Given the description of an element on the screen output the (x, y) to click on. 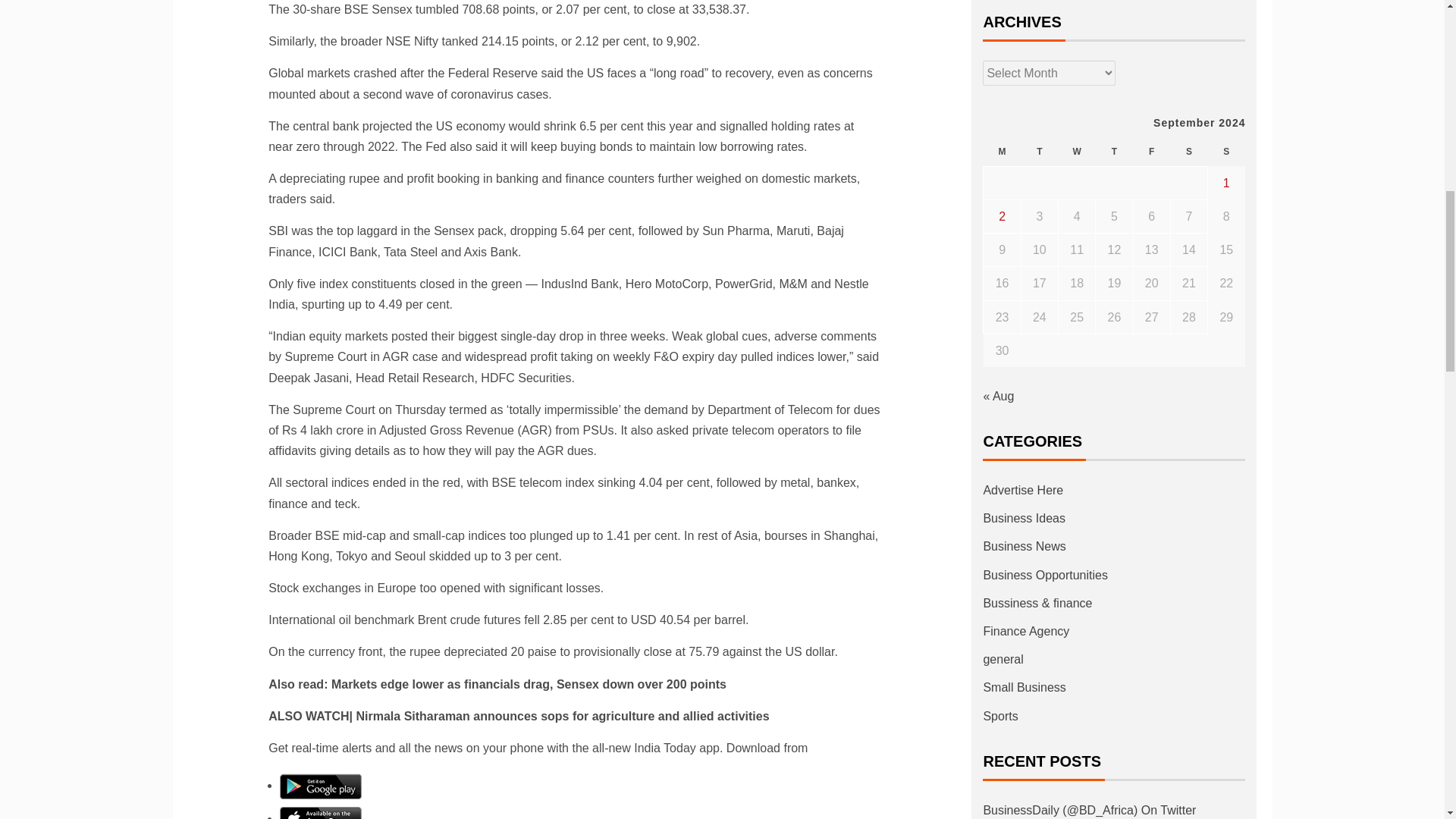
Tuesday (1039, 152)
Andriod App (320, 784)
Thursday (1114, 152)
Wednesday (1077, 152)
Monday (1002, 152)
IOS App (320, 815)
